Given the description of an element on the screen output the (x, y) to click on. 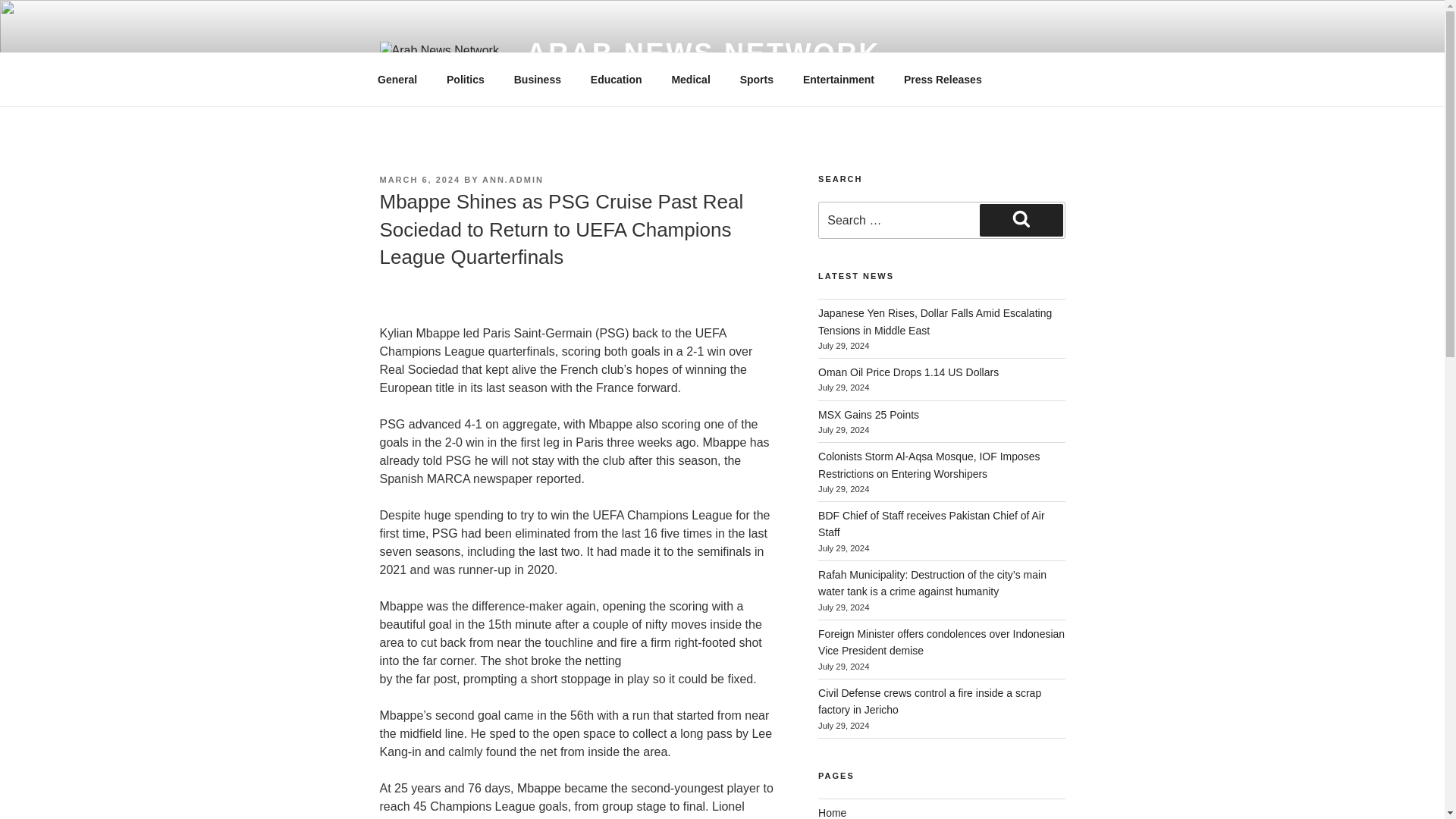
Home (831, 812)
Entertainment (837, 78)
BDF Chief of Staff receives Pakistan Chief of Air Staff (931, 523)
Business (536, 78)
MSX Gains 25 Points (868, 414)
General (396, 78)
Politics (465, 78)
ARAB NEWS NETWORK (702, 52)
ANN.ADMIN (512, 179)
Sports (756, 78)
Oman Oil Price Drops 1.14 US Dollars (908, 372)
Education (615, 78)
Search (1020, 219)
